Given the description of an element on the screen output the (x, y) to click on. 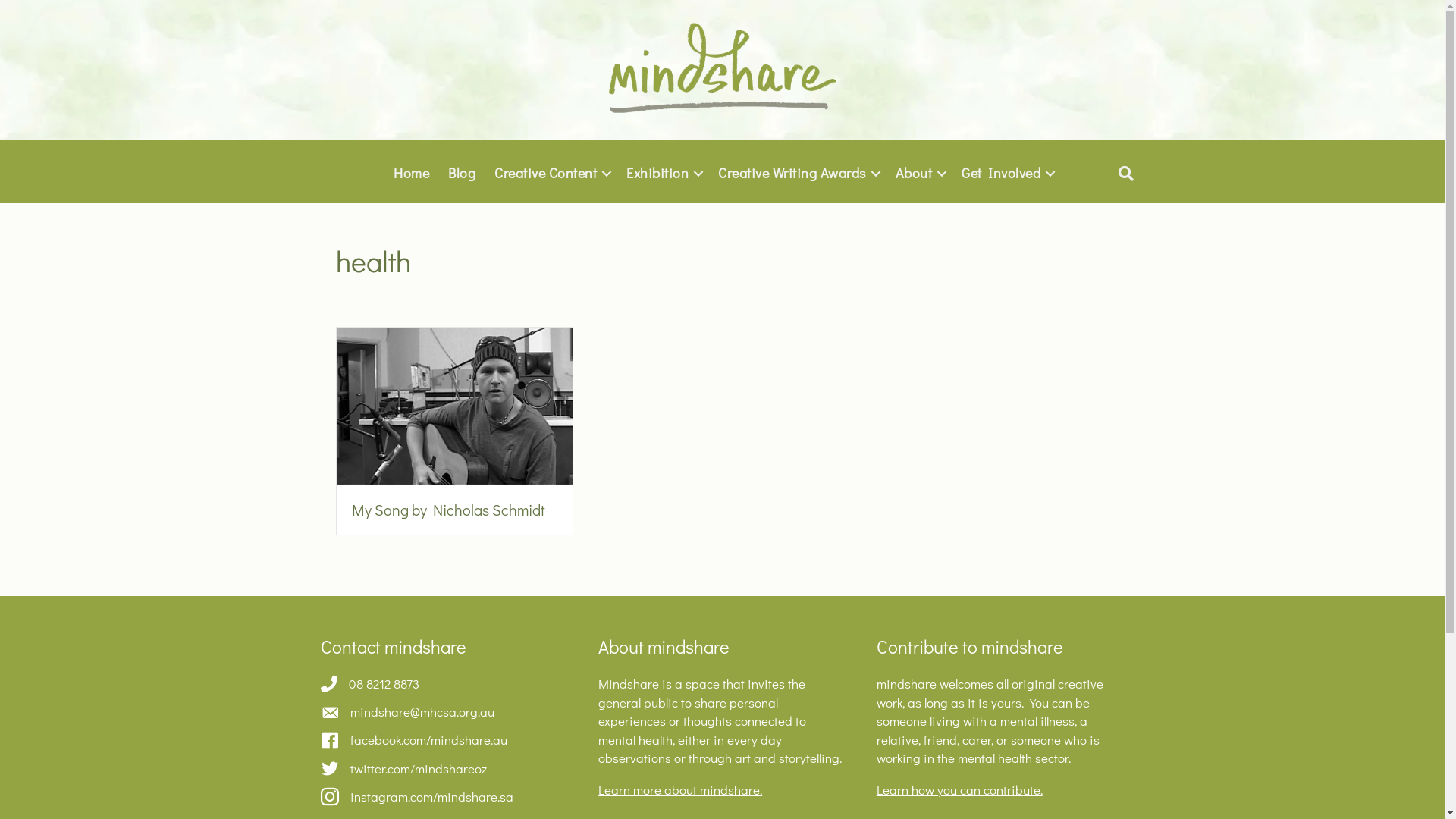
My Song by Nicholas Schmidt Element type: hover (454, 404)
About Element type: text (918, 172)
mindshare@mhcsa.org.au Element type: text (422, 711)
Home Element type: text (411, 172)
08 8212 8873 Element type: text (383, 683)
instagram.com/mindshare.sa Element type: text (431, 796)
Learn how you can contribute Element type: text (958, 789)
Creative Content Element type: text (550, 172)
mindshare Element type: hover (721, 67)
facebook.com/mindshare.au Element type: text (428, 740)
Learn more about mindshare Element type: text (678, 789)
Get Involved Element type: text (1006, 172)
My Song by Nicholas Schmidt Element type: text (448, 509)
Blog Element type: text (461, 172)
Exhibition Element type: text (662, 172)
twitter.com/mindshareoz Element type: text (418, 768)
Creative Writing Awards Element type: text (797, 172)
